Given the description of an element on the screen output the (x, y) to click on. 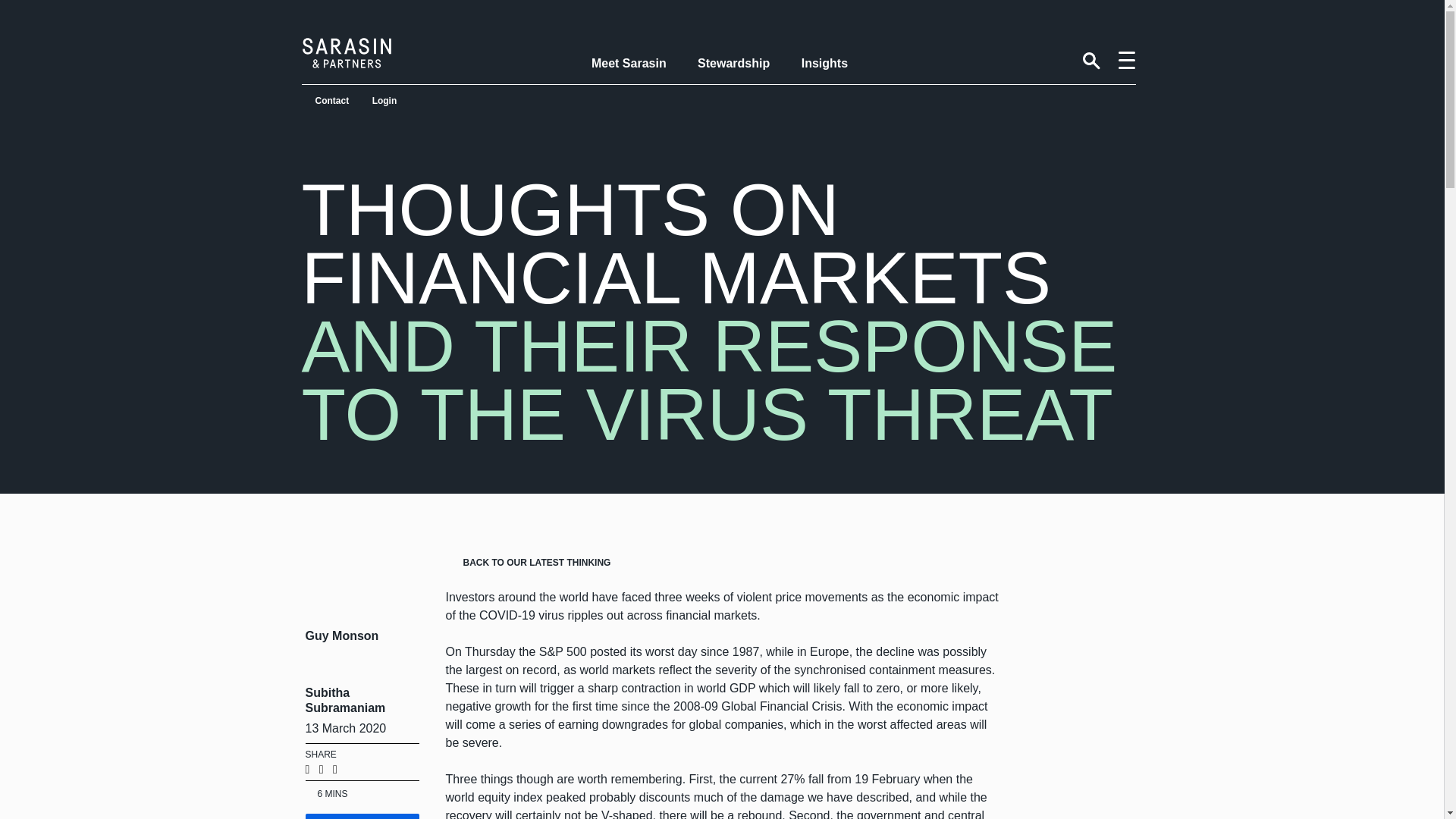
Subitha Subramaniam (357, 683)
Meet Sarasin (628, 63)
Contact (332, 100)
Guy Monson (357, 618)
Stewardship (733, 63)
Login (384, 100)
Navigate this page (1127, 60)
Subscribe to our newsletter (361, 816)
BACK TO OUR LATEST THINKING (529, 562)
Insights (824, 63)
